Given the description of an element on the screen output the (x, y) to click on. 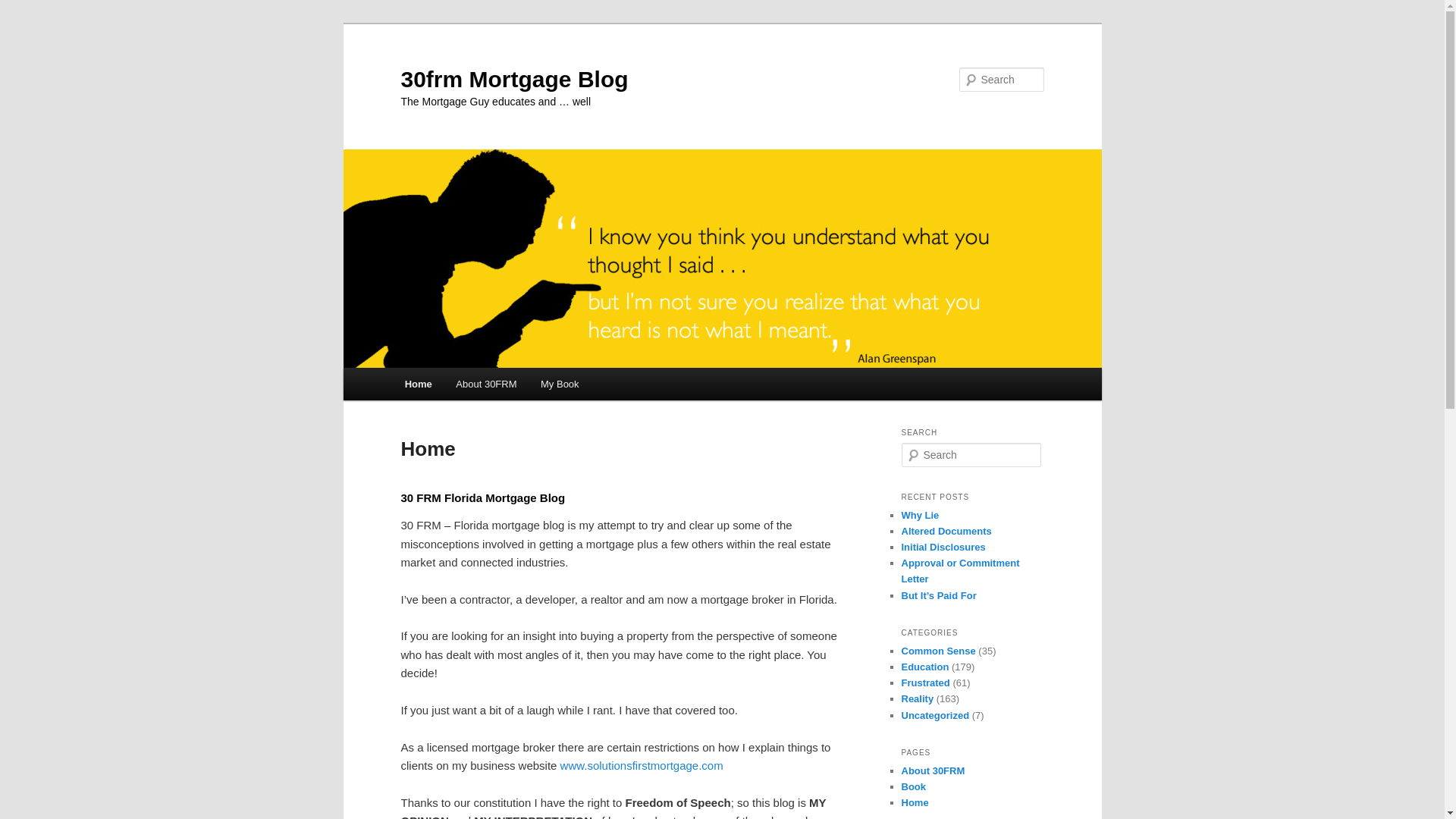
Frustrated Element type: text (924, 682)
About 30FRM Element type: text (486, 383)
Search Element type: text (24, 8)
Reality Element type: text (916, 698)
About 30FRM Element type: text (932, 770)
Approval or Commitment Letter Element type: text (959, 570)
Education Element type: text (924, 666)
Home Element type: text (914, 802)
Skip to primary content Element type: text (414, 367)
Common Sense Element type: text (937, 650)
www.solutionsfirstmortgage.com Element type: text (641, 765)
Uncategorized Element type: text (934, 715)
Book Element type: text (912, 786)
Altered Documents Element type: text (945, 530)
Home Element type: text (418, 383)
Initial Disclosures Element type: text (942, 546)
30frm Mortgage Blog Element type: text (513, 78)
My Book Element type: text (559, 383)
Search Element type: text (20, 10)
Why Lie Element type: text (919, 514)
